Given the description of an element on the screen output the (x, y) to click on. 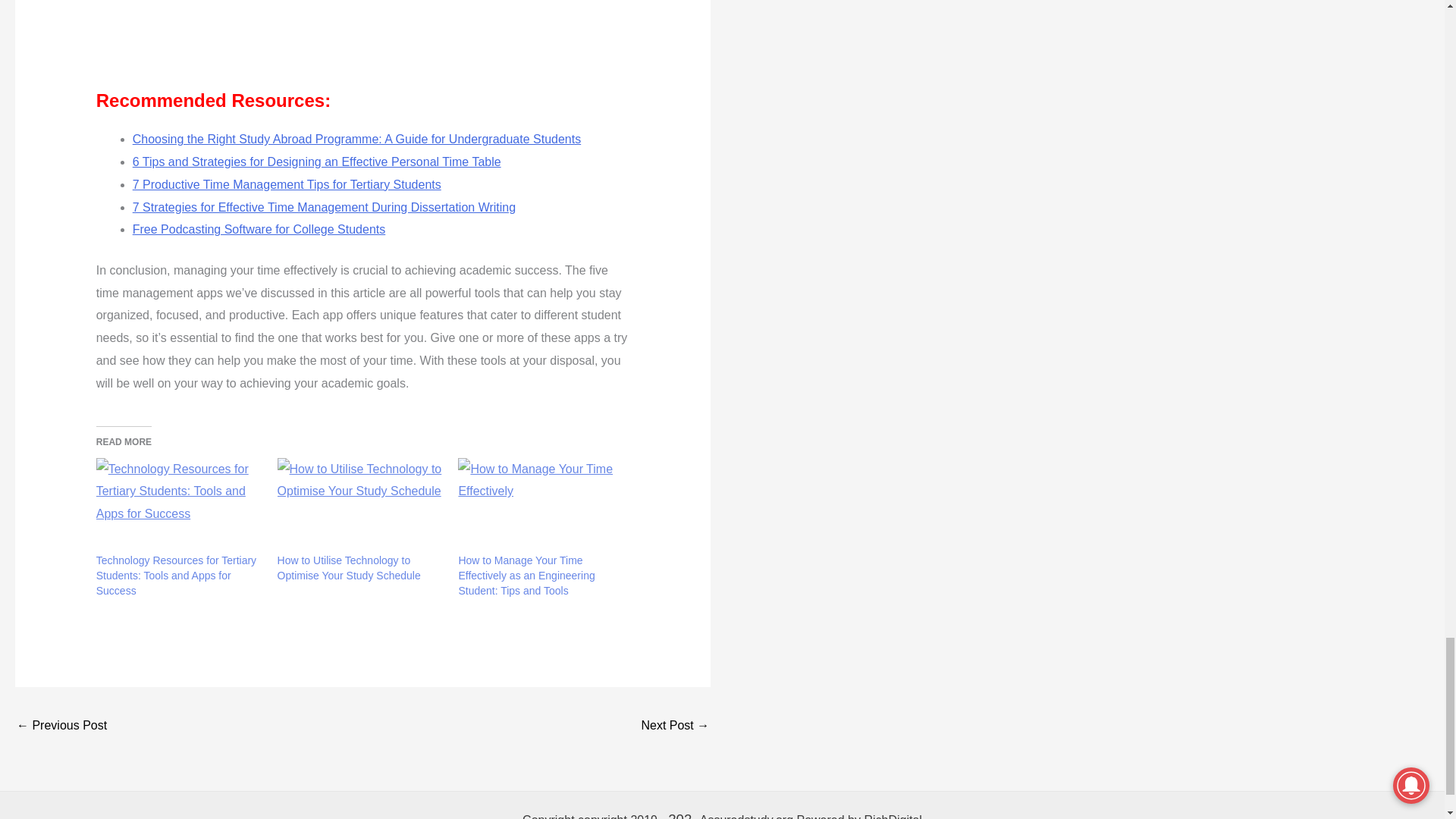
Advertisement (338, 40)
